Given the description of an element on the screen output the (x, y) to click on. 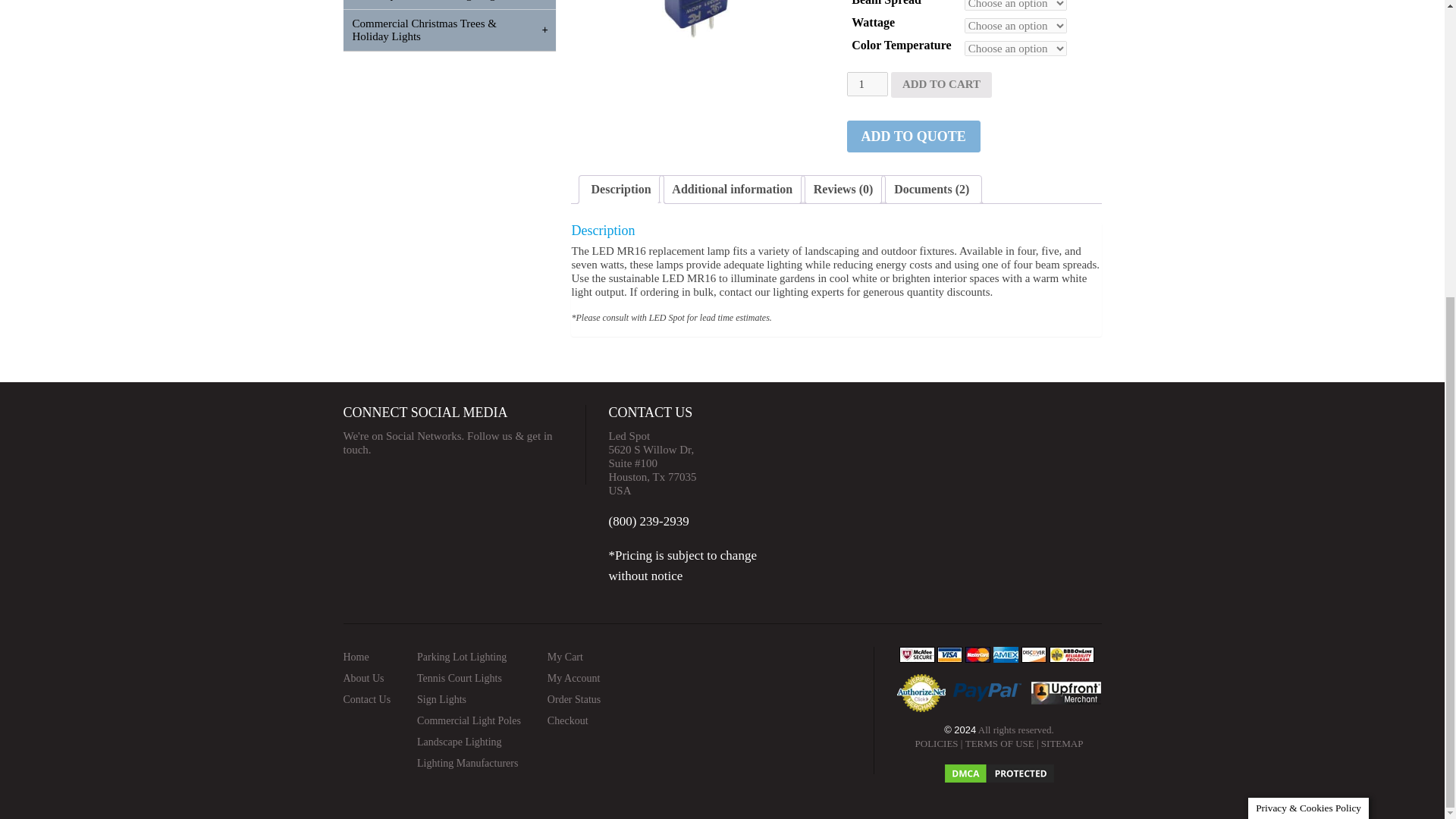
DMCA.com Protection Status (998, 767)
1 (865, 84)
MR16 (697, 37)
